Given the description of an element on the screen output the (x, y) to click on. 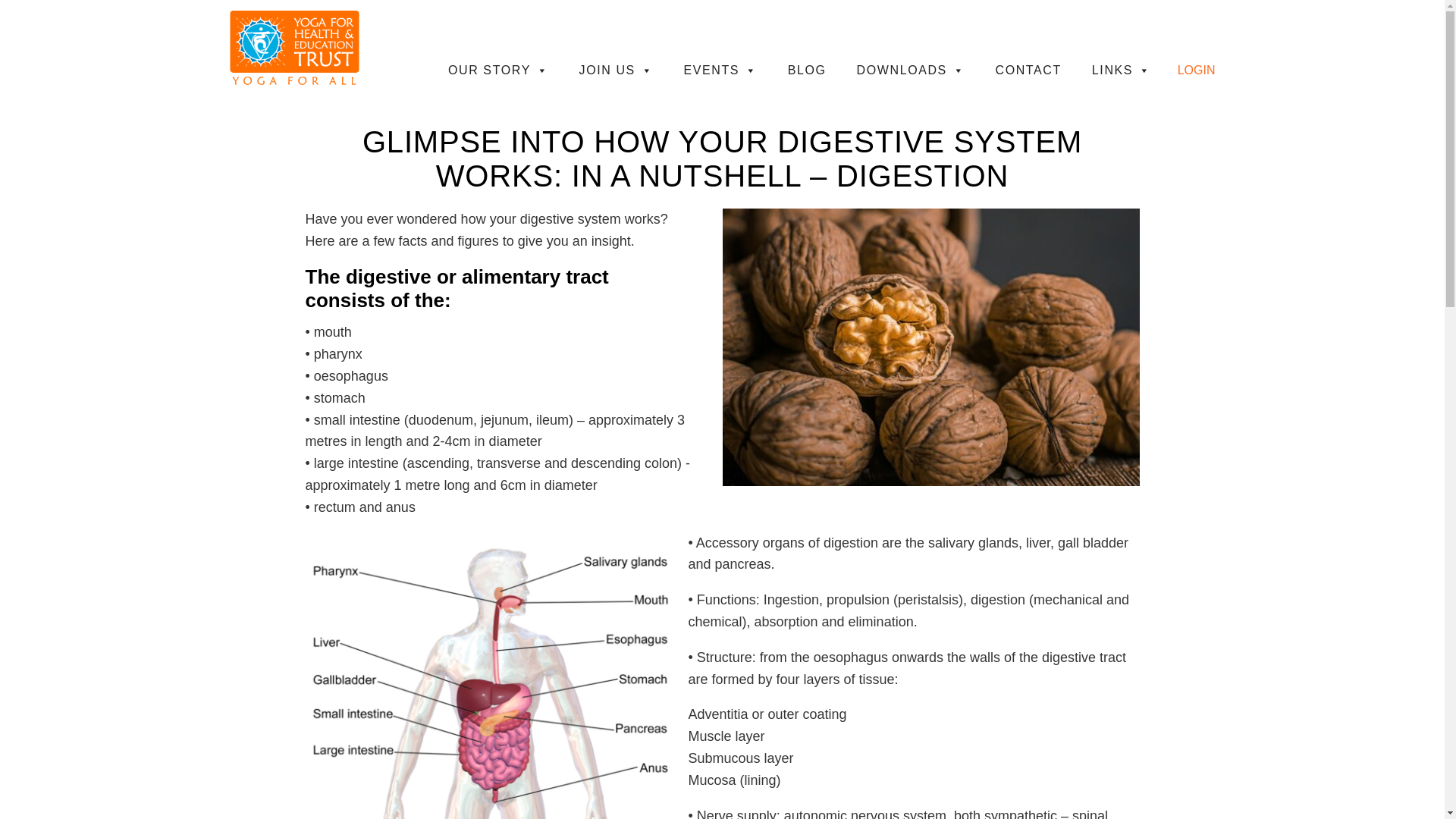
OUR STORY (498, 70)
LINKS (1121, 70)
CONTACT (1027, 70)
DOWNLOADS (910, 70)
EVENTS (719, 70)
LOGIN (1196, 69)
BLOG (807, 70)
JOIN US (616, 70)
